Given the description of an element on the screen output the (x, y) to click on. 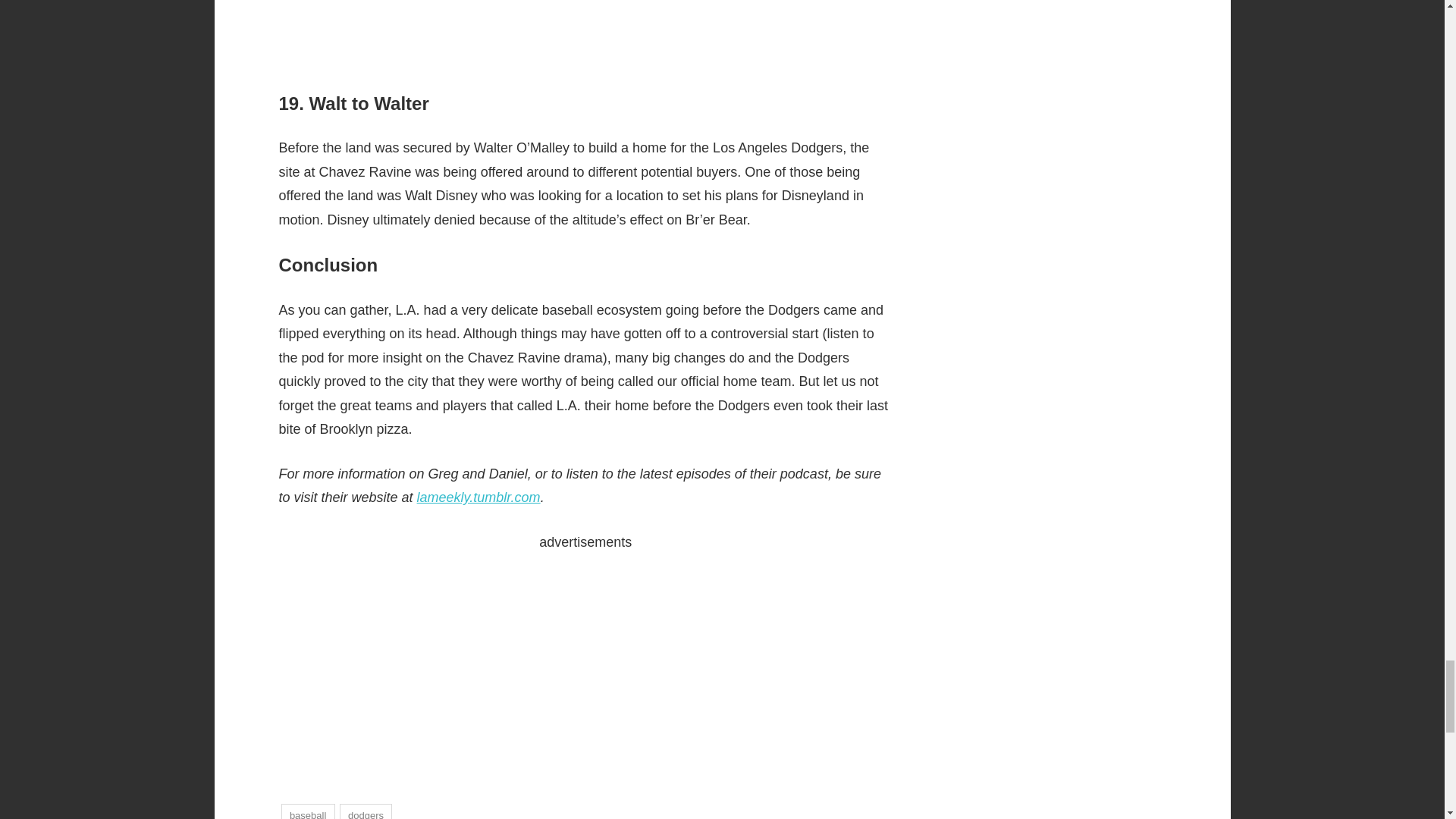
baseball (307, 811)
Home Run Derby S01E01 Mickey Mantle vs  Willie Mays (586, 31)
lameekly.tumblr.com (478, 497)
dodgers (366, 811)
